Given the description of an element on the screen output the (x, y) to click on. 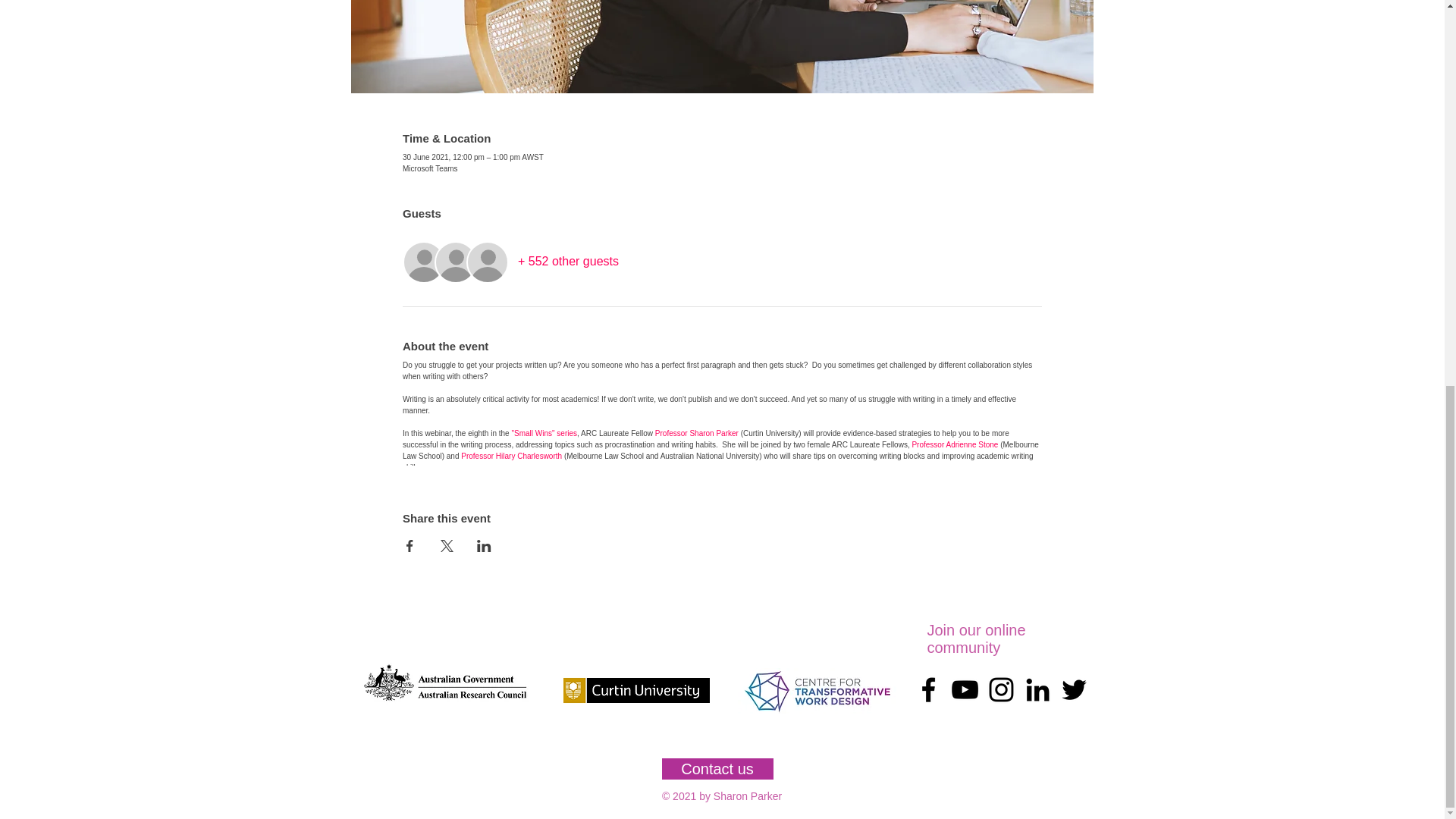
Twitter Follow (1076, 744)
